Given the description of an element on the screen output the (x, y) to click on. 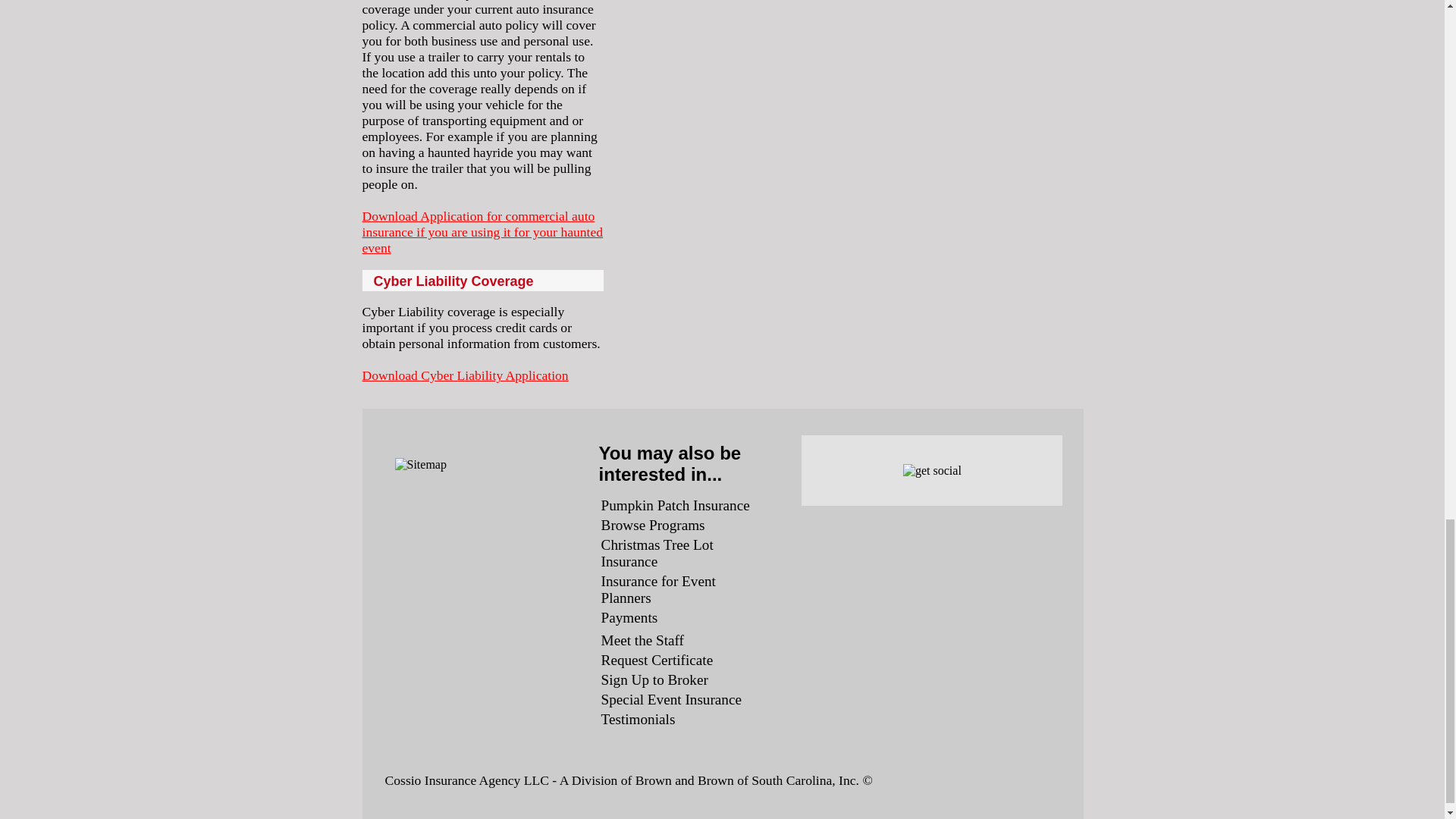
Payments (629, 617)
Meet the Staff (642, 640)
Request Certificate (657, 659)
Insurance for Event Planners (658, 589)
Download Cyber Liability Application (465, 375)
Pumpkin Patch Insurance (675, 505)
Christmas Tree Lot Insurance (657, 553)
Browse Programs (652, 524)
